Given the description of an element on the screen output the (x, y) to click on. 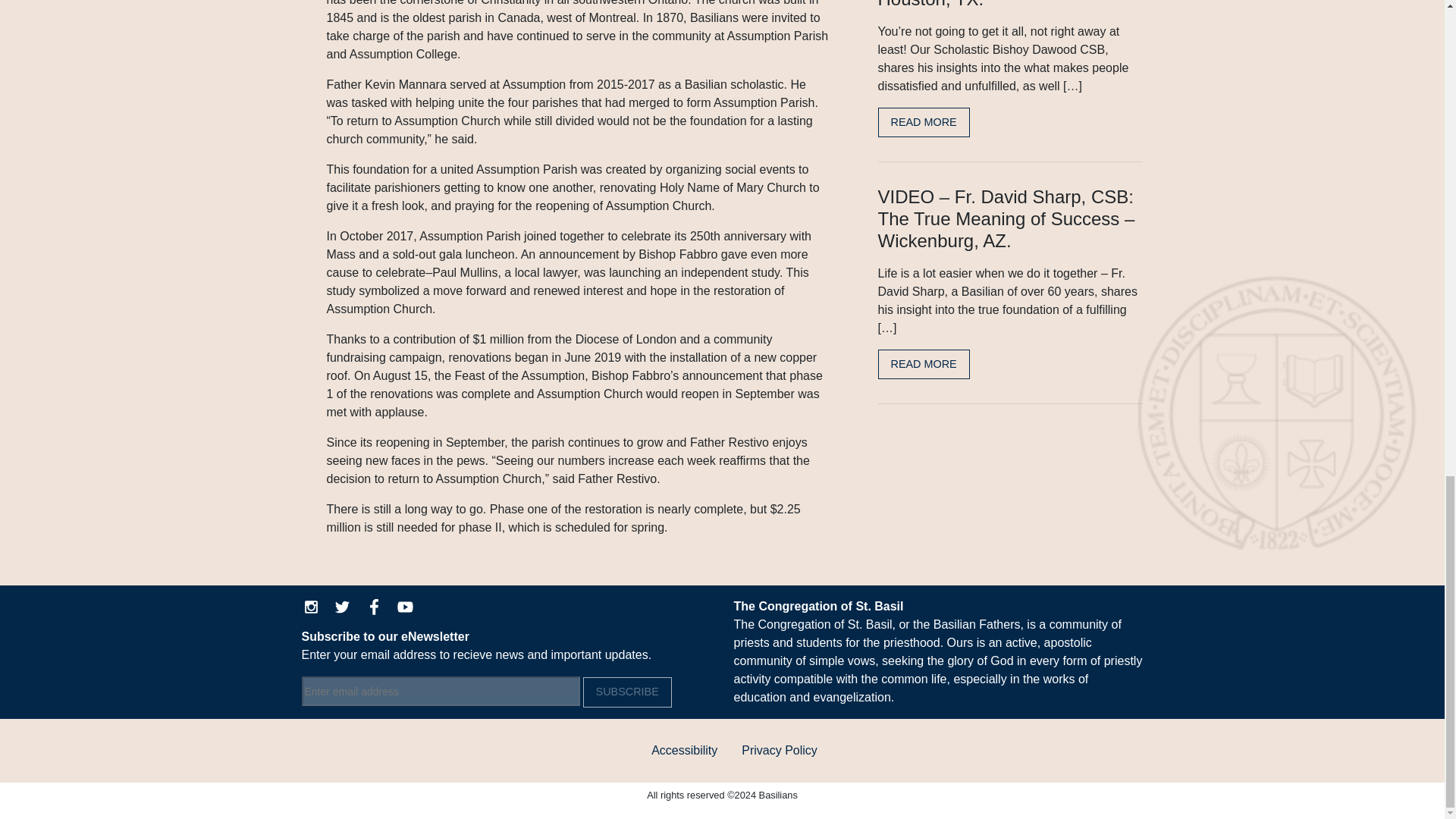
Subscribe (627, 692)
